Given the description of an element on the screen output the (x, y) to click on. 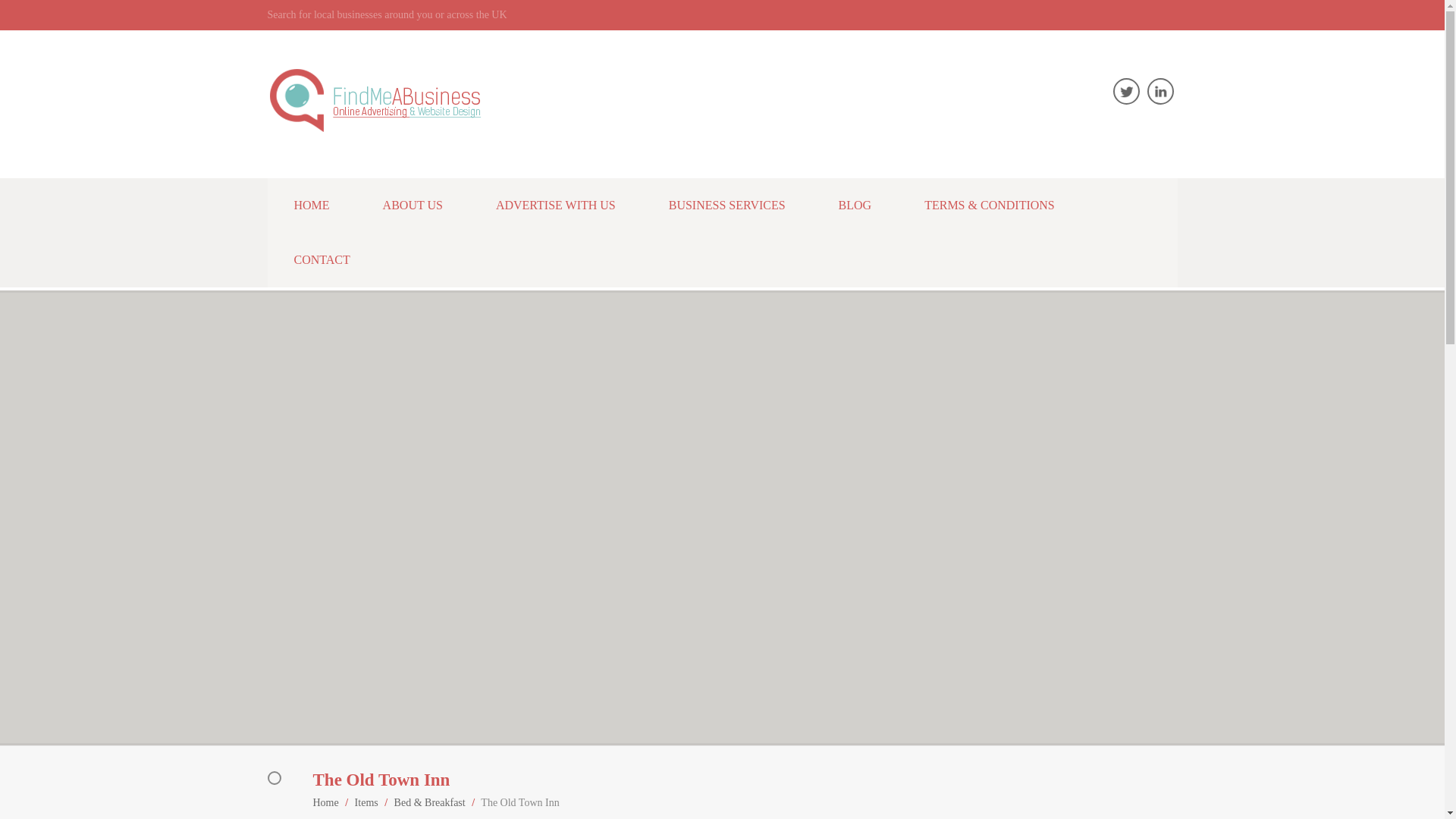
Home (325, 802)
Items (366, 802)
ABOUT US (412, 205)
ADVERTISE WITH US (555, 205)
Items (366, 802)
BLOG (855, 205)
HOME (310, 205)
BUSINESS SERVICES (727, 205)
CONTACT (320, 259)
